Given the description of an element on the screen output the (x, y) to click on. 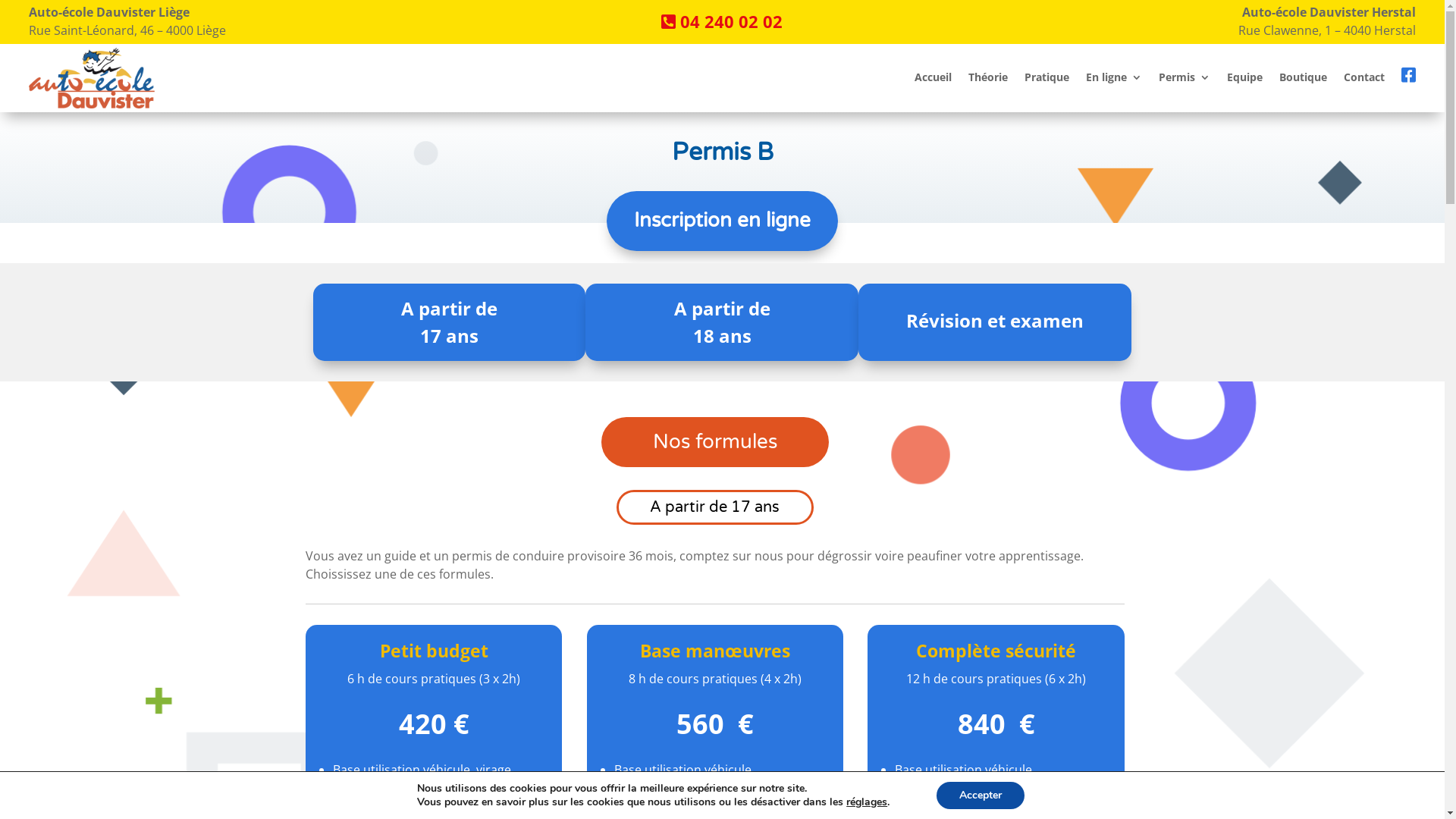
Equipe Element type: text (1244, 80)
Inscription en ligne Element type: text (721, 221)
Accepter Element type: text (980, 795)
Pratique Element type: text (1046, 80)
Contact Element type: text (1363, 80)
En ligne Element type: text (1113, 80)
Boutique Element type: text (1303, 80)
Permis Element type: text (1184, 80)
Accueil Element type: text (932, 80)
